Given the description of an element on the screen output the (x, y) to click on. 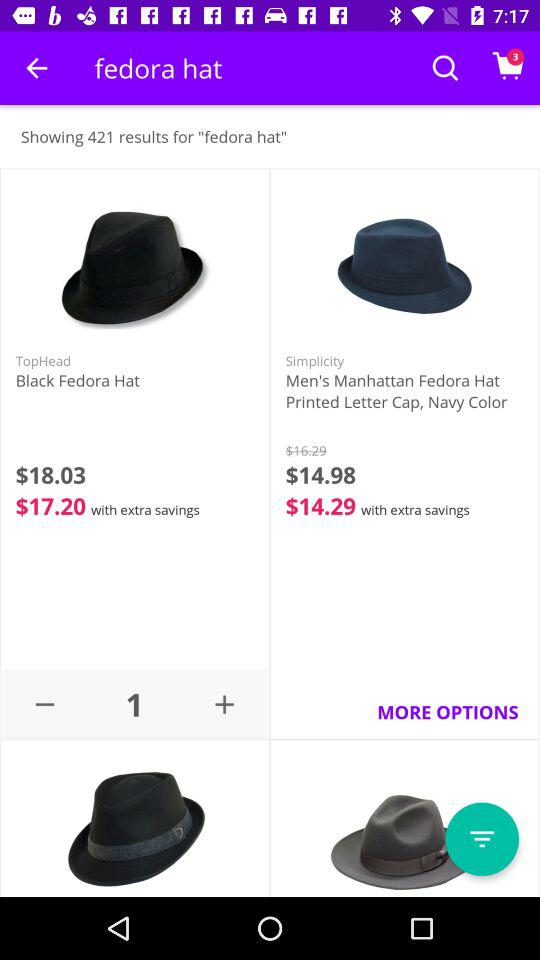
launch the 1 icon (134, 704)
